Given the description of an element on the screen output the (x, y) to click on. 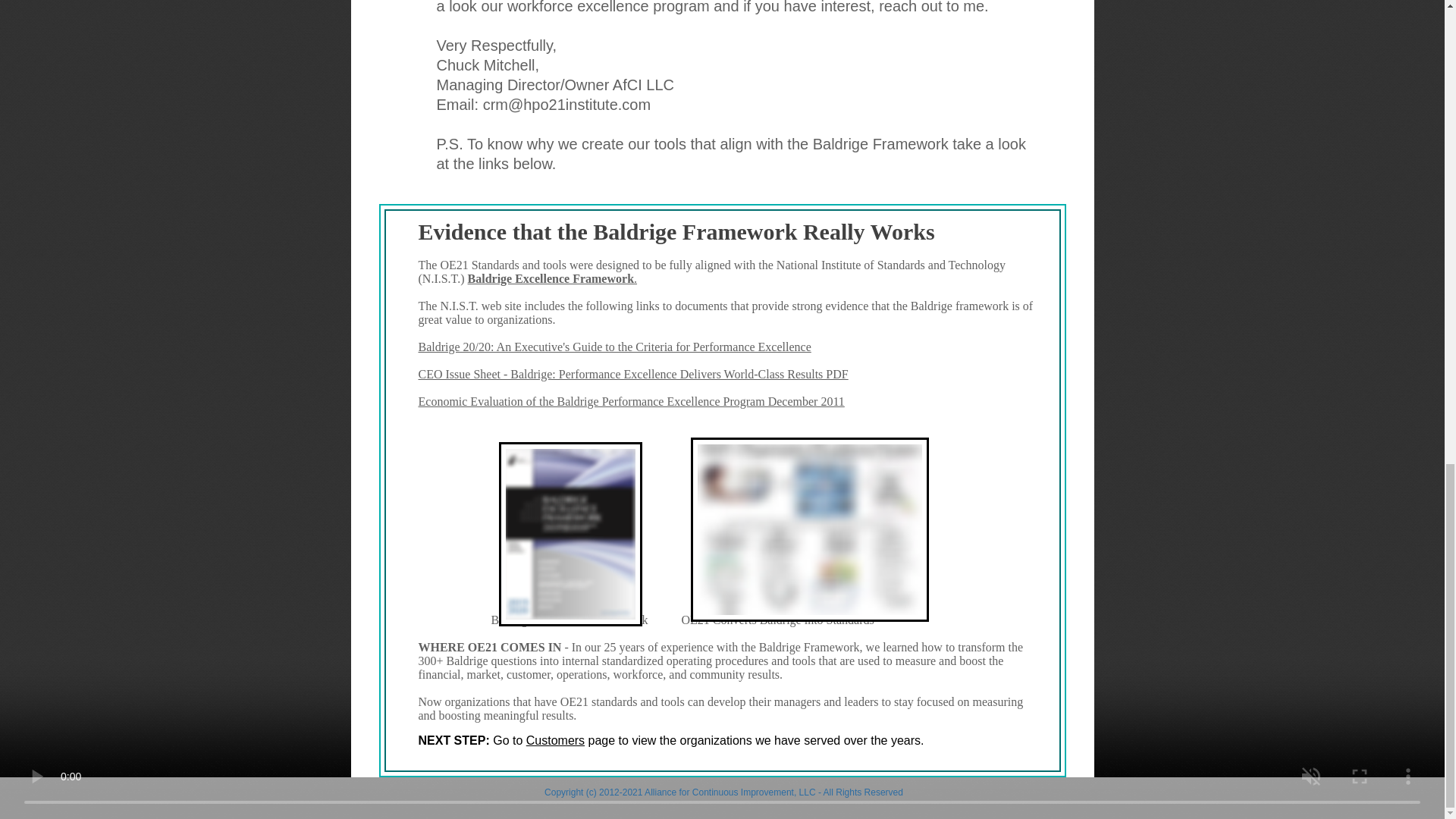
Baldrige Excellence Framework. (552, 278)
Customers (555, 739)
